Given the description of an element on the screen output the (x, y) to click on. 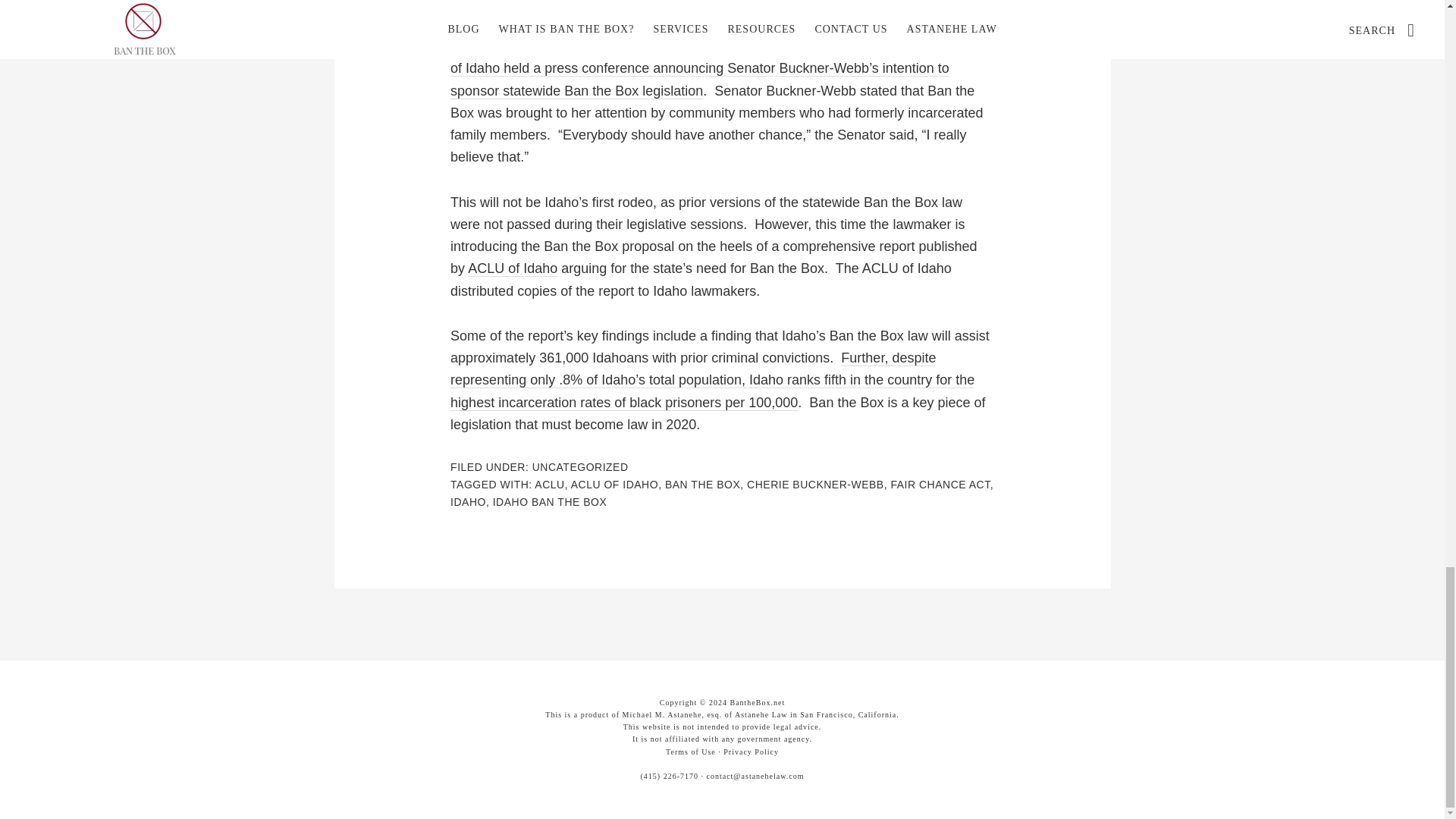
BAN THE BOX (702, 484)
UNCATEGORIZED (580, 467)
ACLU OF IDAHO (614, 484)
ACLU (549, 484)
ACLU of Idaho (512, 268)
